Given the description of an element on the screen output the (x, y) to click on. 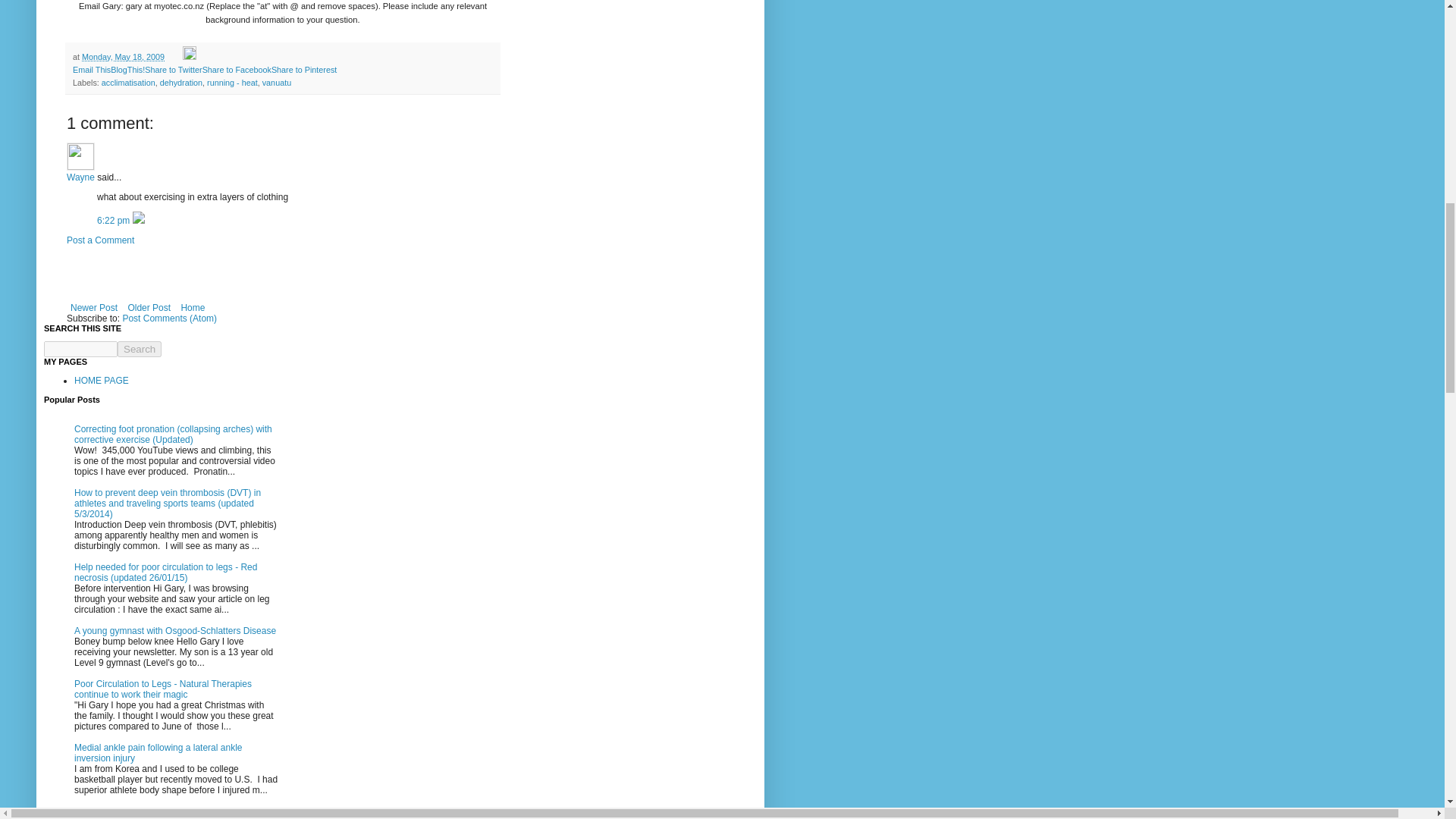
A young gymnast with Osgood-Schlatters Disease (175, 630)
Edit Post (189, 56)
Older Post (148, 307)
Post a Comment (99, 240)
6:22 pm (114, 220)
Home (192, 307)
vanuatu (276, 81)
acclimatisation (128, 81)
Share to Pinterest (303, 69)
permanent link (122, 56)
